Given the description of an element on the screen output the (x, y) to click on. 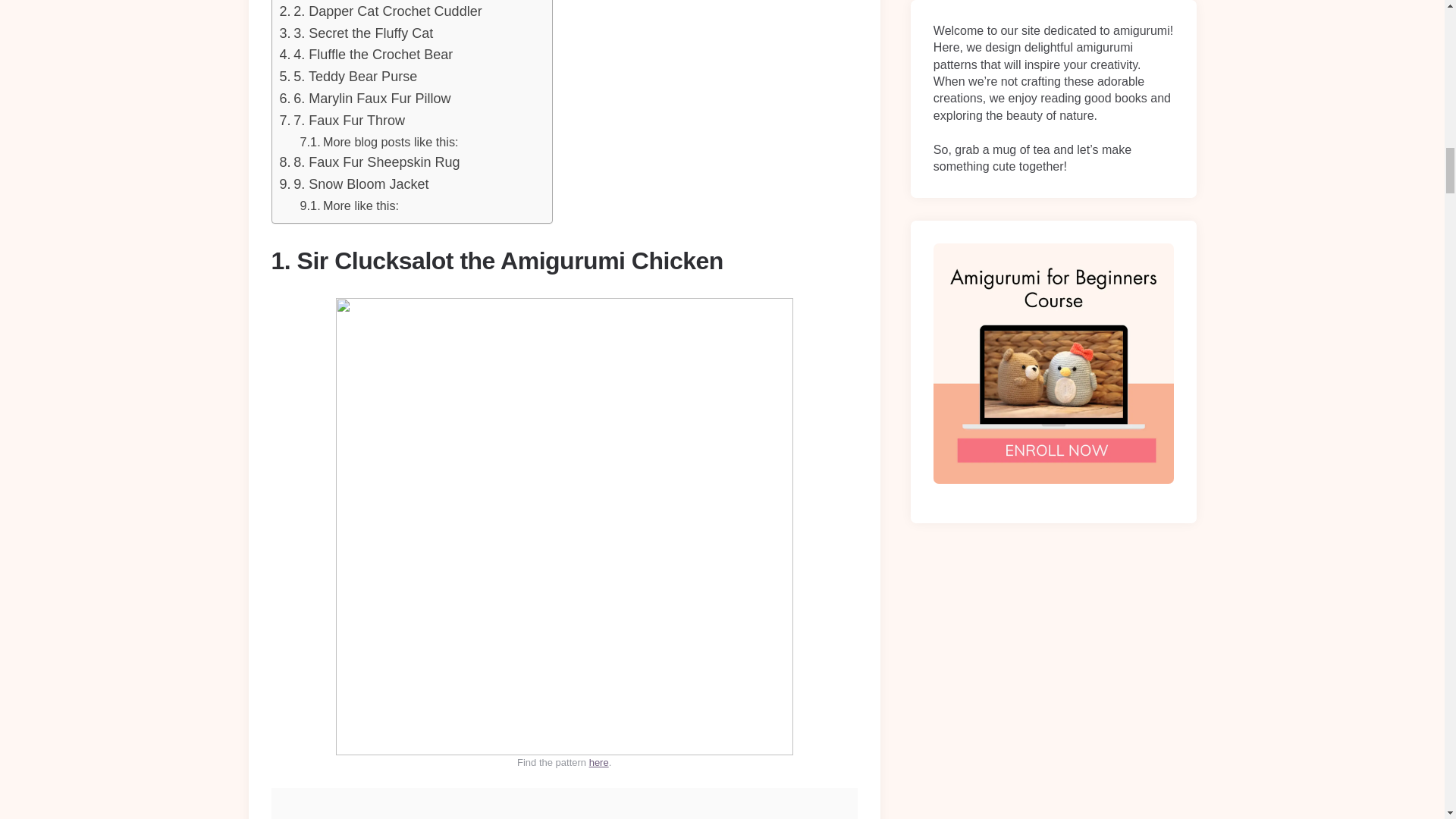
8. Faux Fur Sheepskin Rug (369, 162)
2. Dapper Cat Crochet Cuddler (380, 11)
More like this: (348, 205)
More blog posts like this: (378, 141)
5. Teddy Bear Purse (347, 76)
7. Faux Fur Throw (341, 120)
9. Snow Bloom Jacket (353, 184)
3. Secret the Fluffy Cat (355, 33)
6. Marylin Faux Fur Pillow (364, 98)
